Given the description of an element on the screen output the (x, y) to click on. 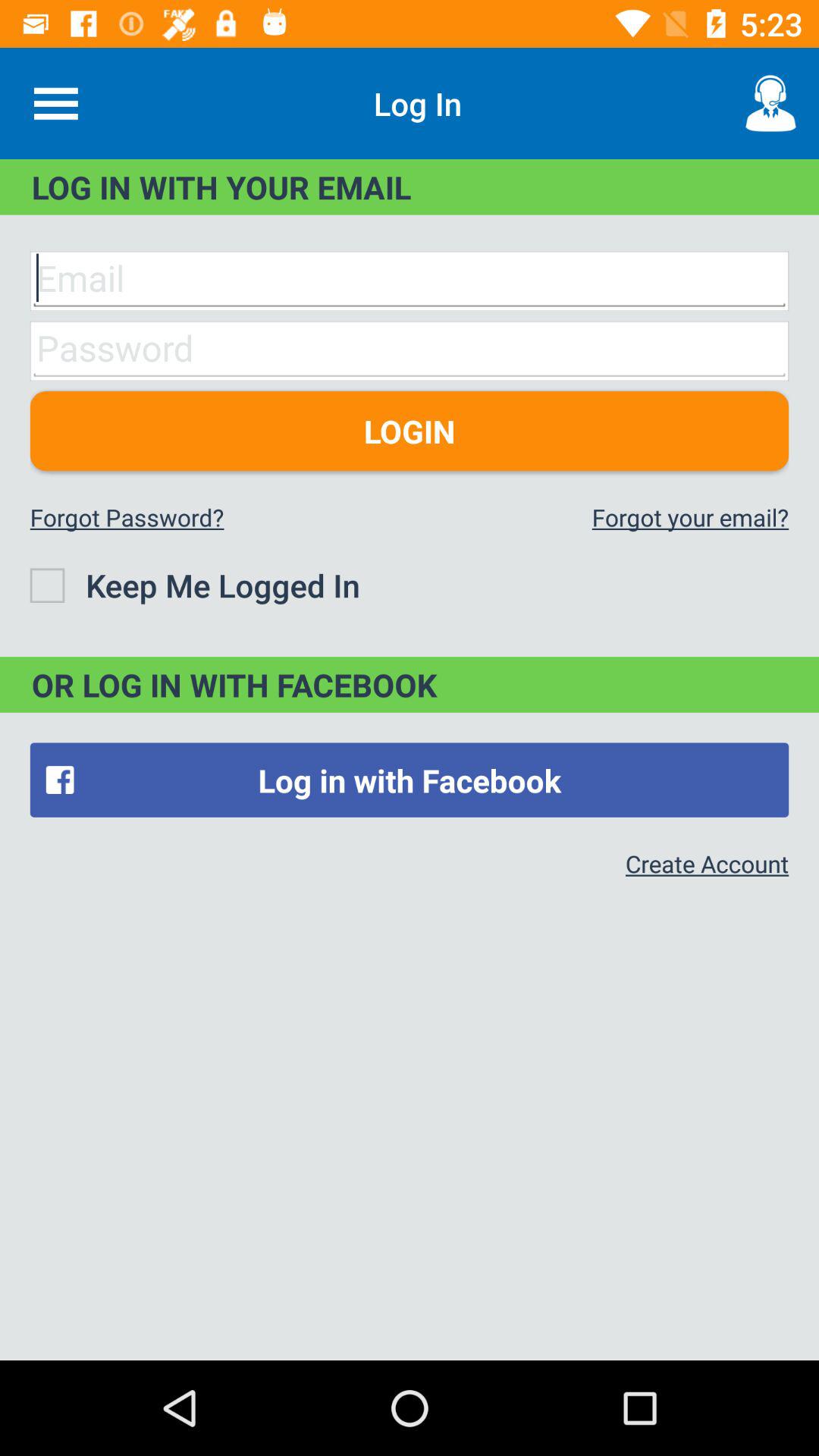
tap the icon above the or log in icon (195, 584)
